Given the description of an element on the screen output the (x, y) to click on. 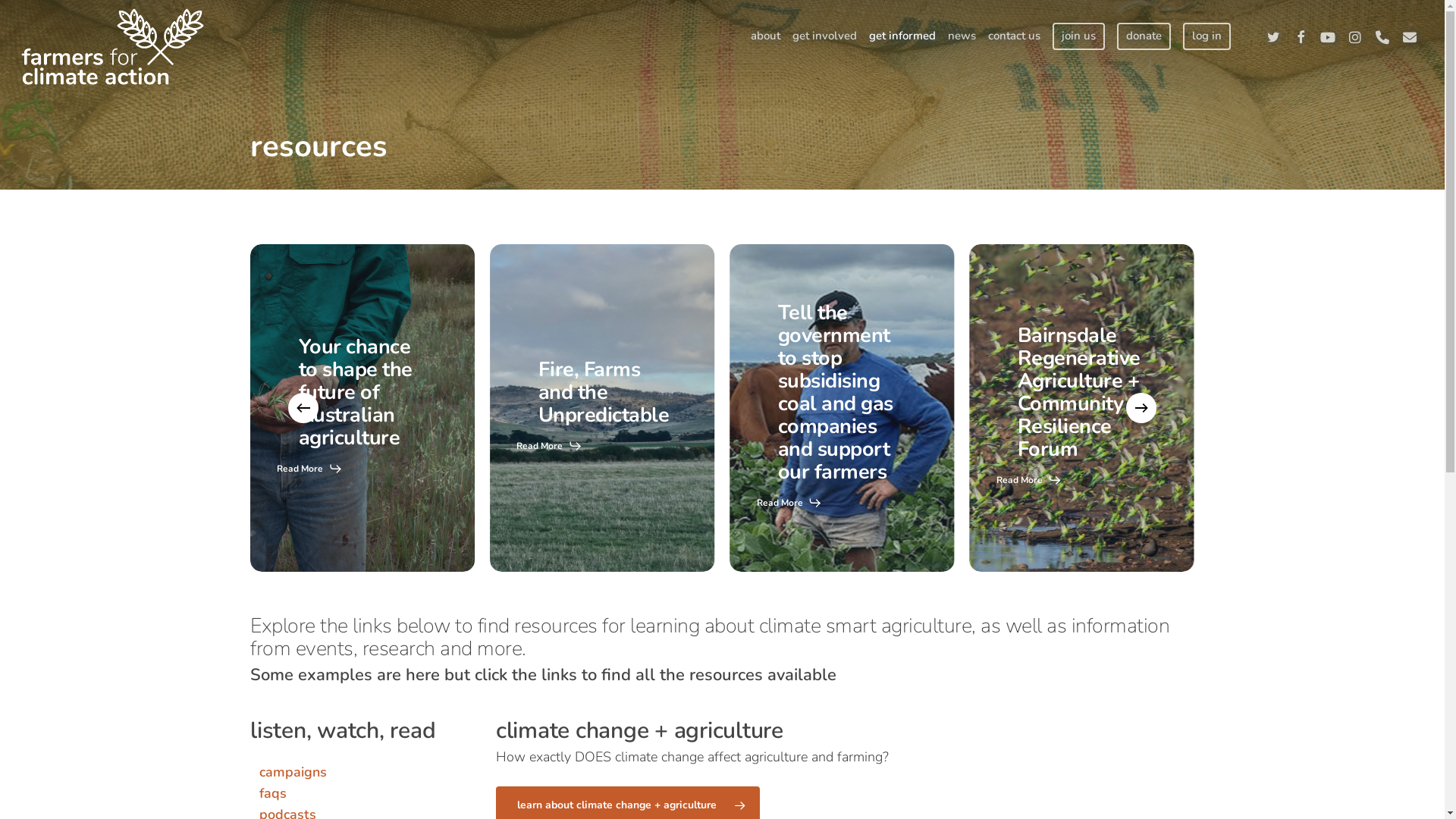
instagram Element type: text (1354, 35)
twitter Element type: text (1272, 35)
phone Element type: text (1382, 35)
news Element type: text (961, 35)
youtube Element type: text (1327, 35)
Your chance to shape the future of Australian agriculture Element type: text (355, 391)
join us Element type: text (1078, 35)
get informed Element type: text (901, 35)
contact us Element type: text (1014, 35)
Fire, Farms and the Unpredictable Element type: text (603, 392)
about Element type: text (765, 35)
donate Element type: text (1143, 35)
get involved Element type: text (824, 35)
faqs Element type: text (272, 793)
campaigns Element type: text (292, 771)
email Element type: text (1409, 35)
facebook Element type: text (1300, 35)
log in Element type: text (1206, 35)
